Given the description of an element on the screen output the (x, y) to click on. 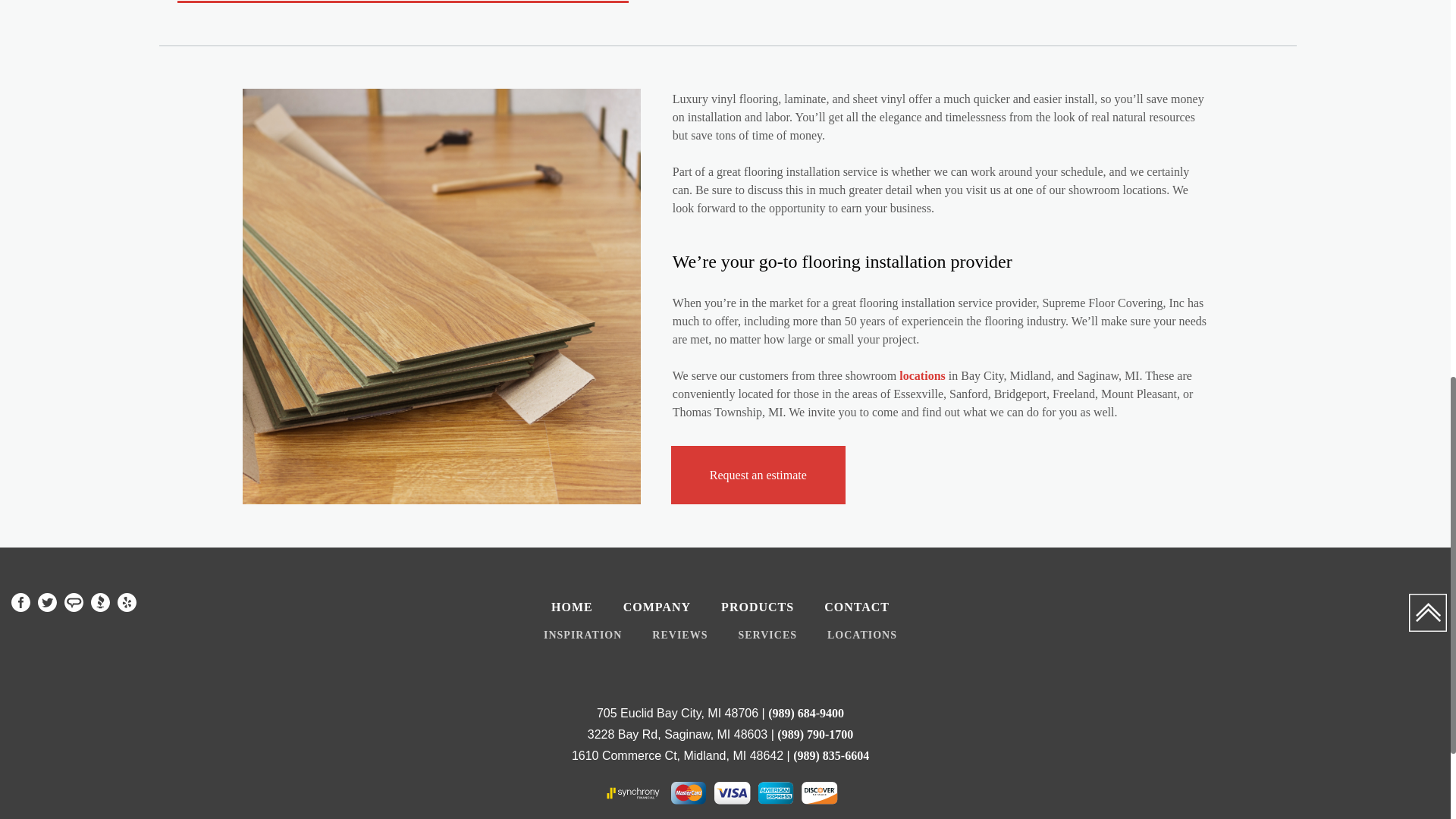
Angies List (73, 601)
Twitter (46, 601)
Facebook (20, 601)
